Given the description of an element on the screen output the (x, y) to click on. 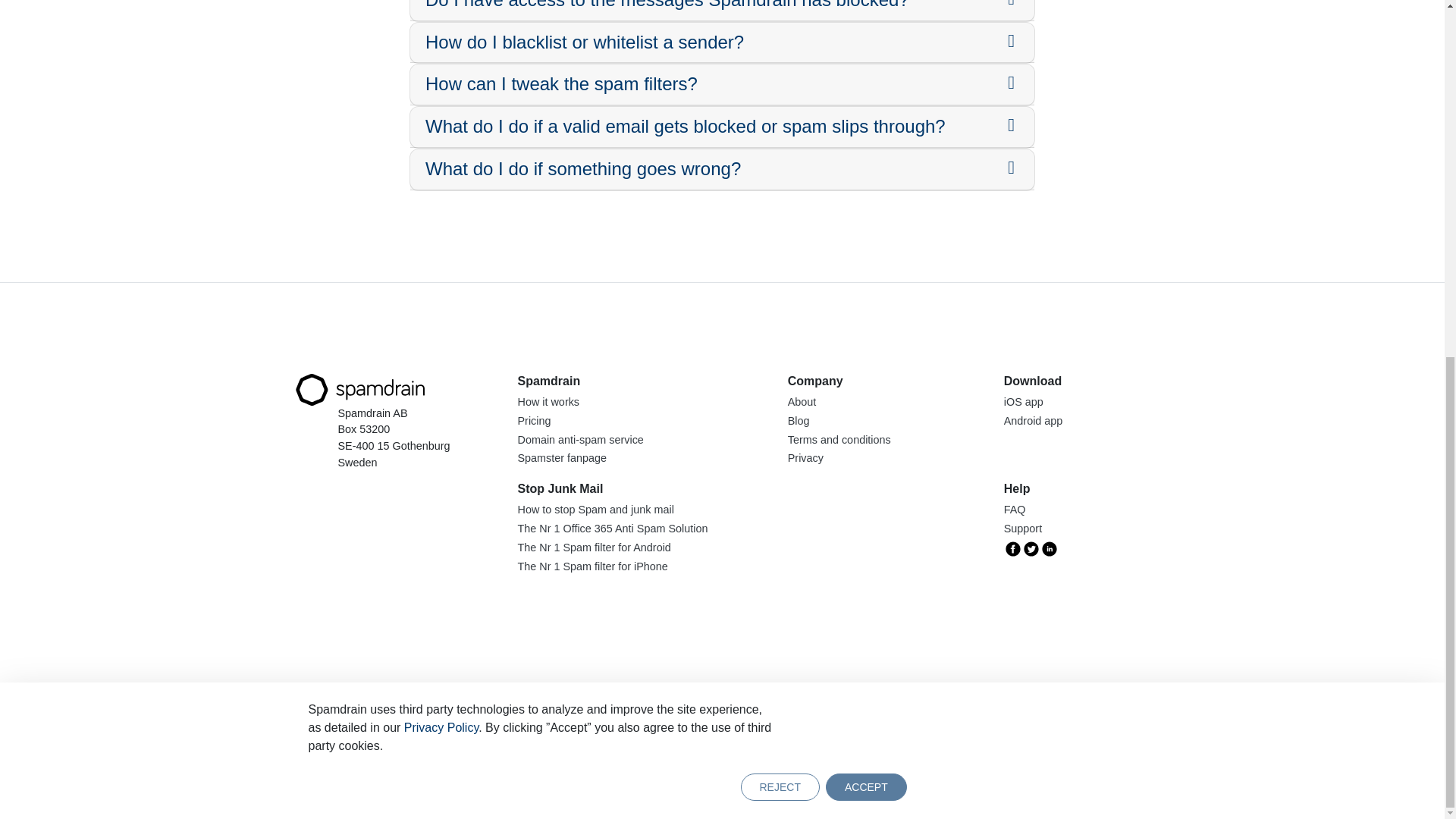
How it works (547, 401)
Pricing (533, 420)
Privacy Policy (441, 97)
 How can I tweak the spam filters? (561, 83)
REJECT (778, 157)
 What do I do if something goes wrong? (583, 168)
ACCEPT (866, 157)
 How do I blacklist or whitelist a sender? (584, 41)
 Do I have access to the messages Spamdrain has blocked? (666, 4)
